Given the description of an element on the screen output the (x, y) to click on. 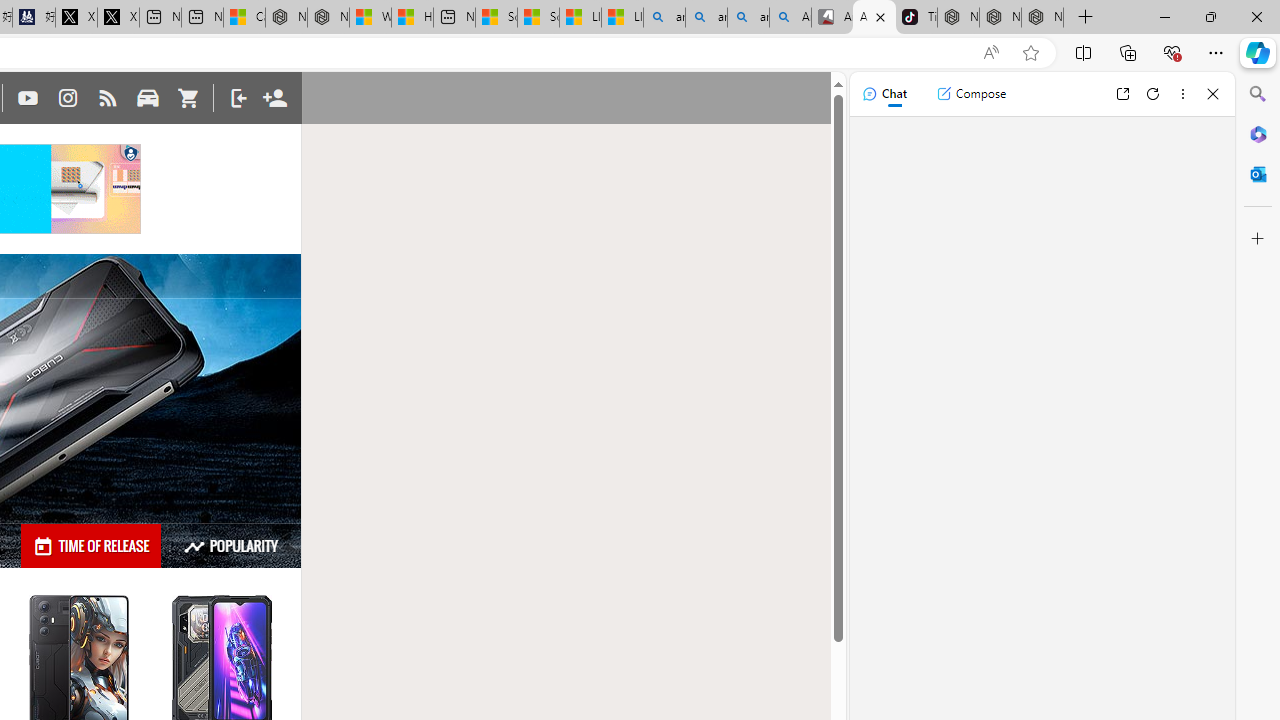
Amazon Echo Robot - Search Images (790, 17)
Customize (1258, 239)
Class: qc-adchoices-icon (132, 151)
